Given the description of an element on the screen output the (x, y) to click on. 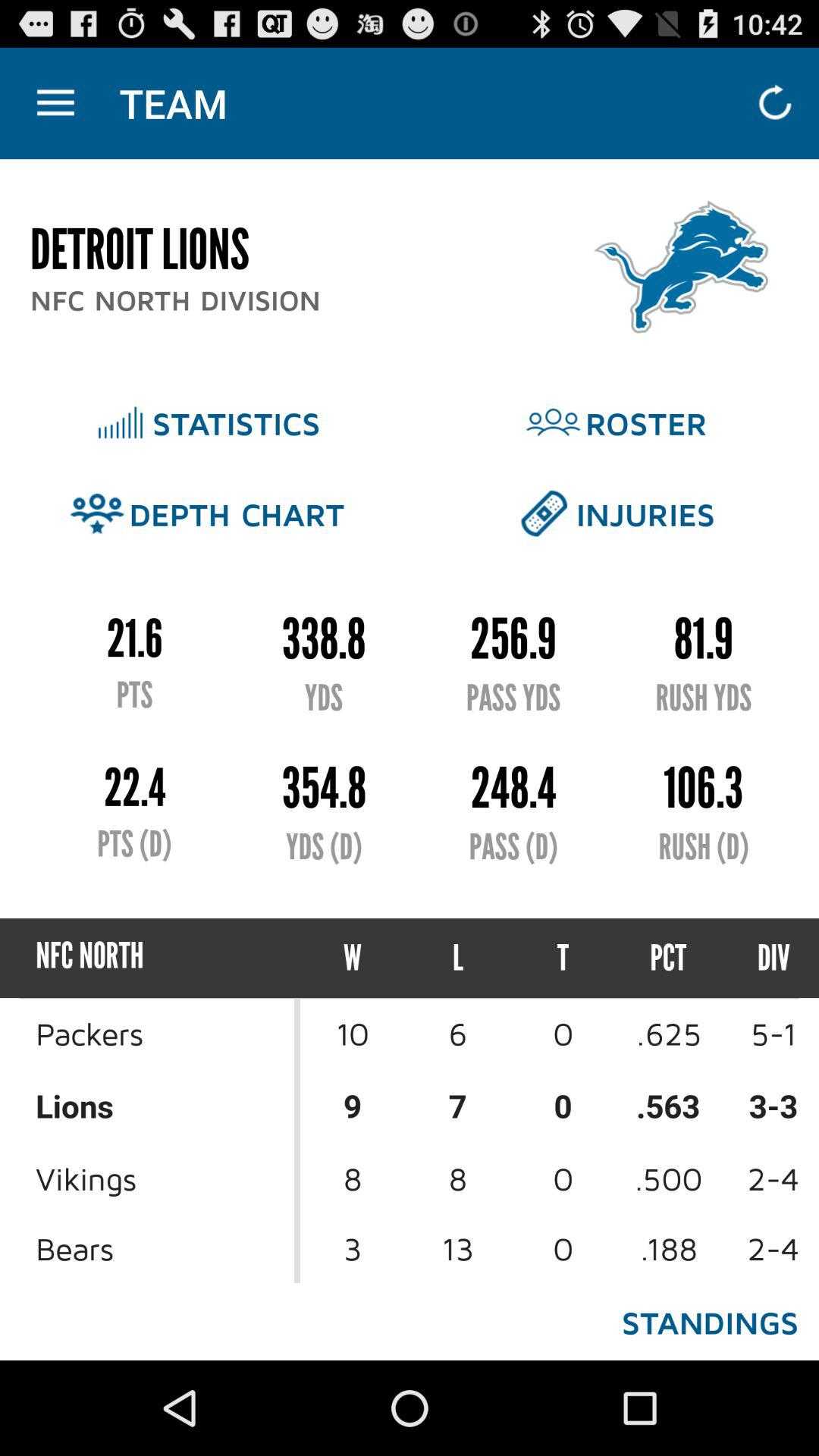
launch the item next to l icon (562, 958)
